Given the description of an element on the screen output the (x, y) to click on. 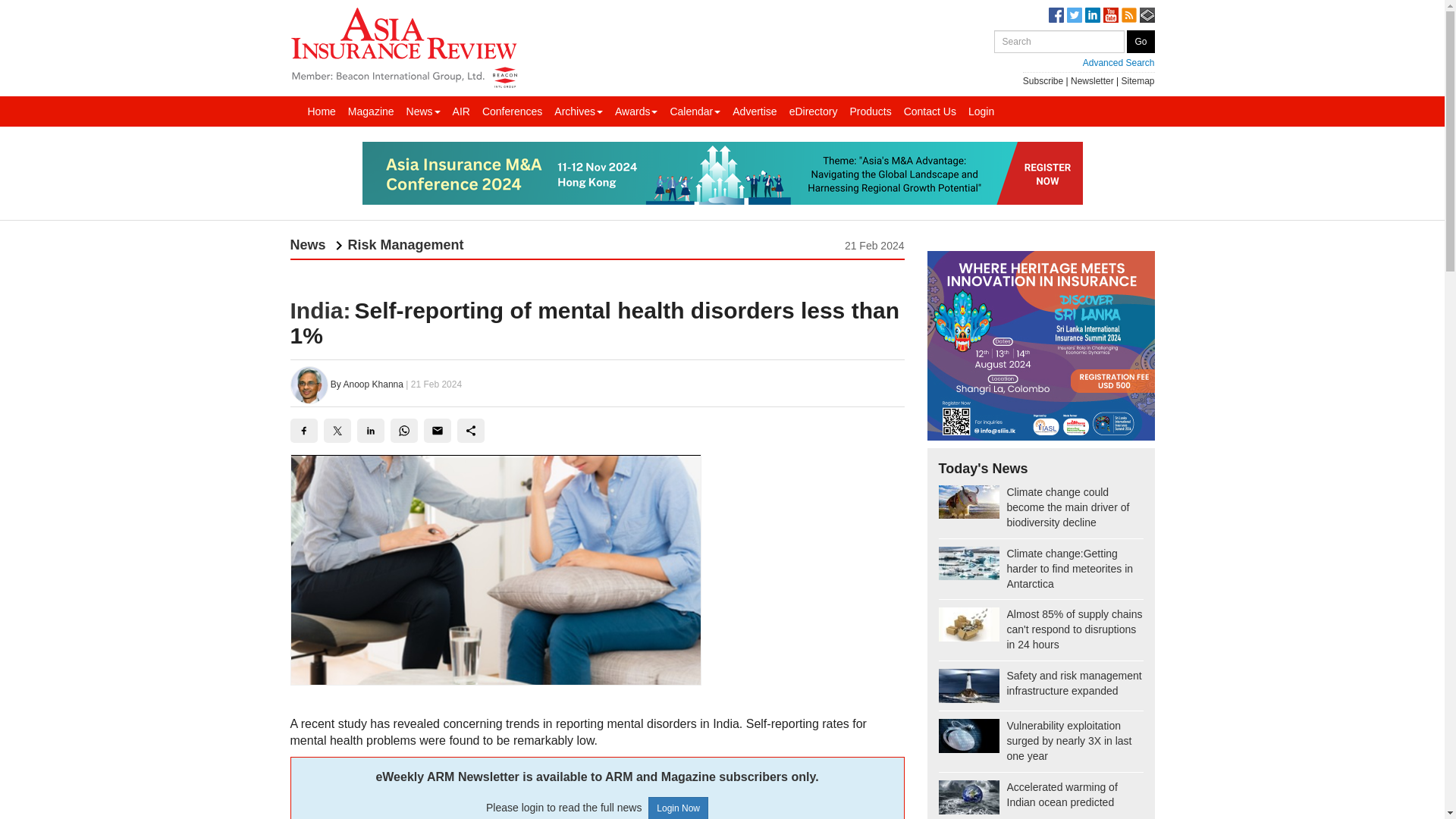
Magazine (371, 111)
News (423, 111)
Home (321, 111)
Go (1140, 41)
Awards (635, 111)
Go (1140, 41)
Login Now (677, 807)
Asia Insurance Review (402, 45)
Subscribe (1042, 81)
Sitemap (1137, 81)
Archives (578, 111)
Conferences (512, 111)
Newsletter (1091, 81)
Advanced Search (1074, 62)
AIR (461, 111)
